Given the description of an element on the screen output the (x, y) to click on. 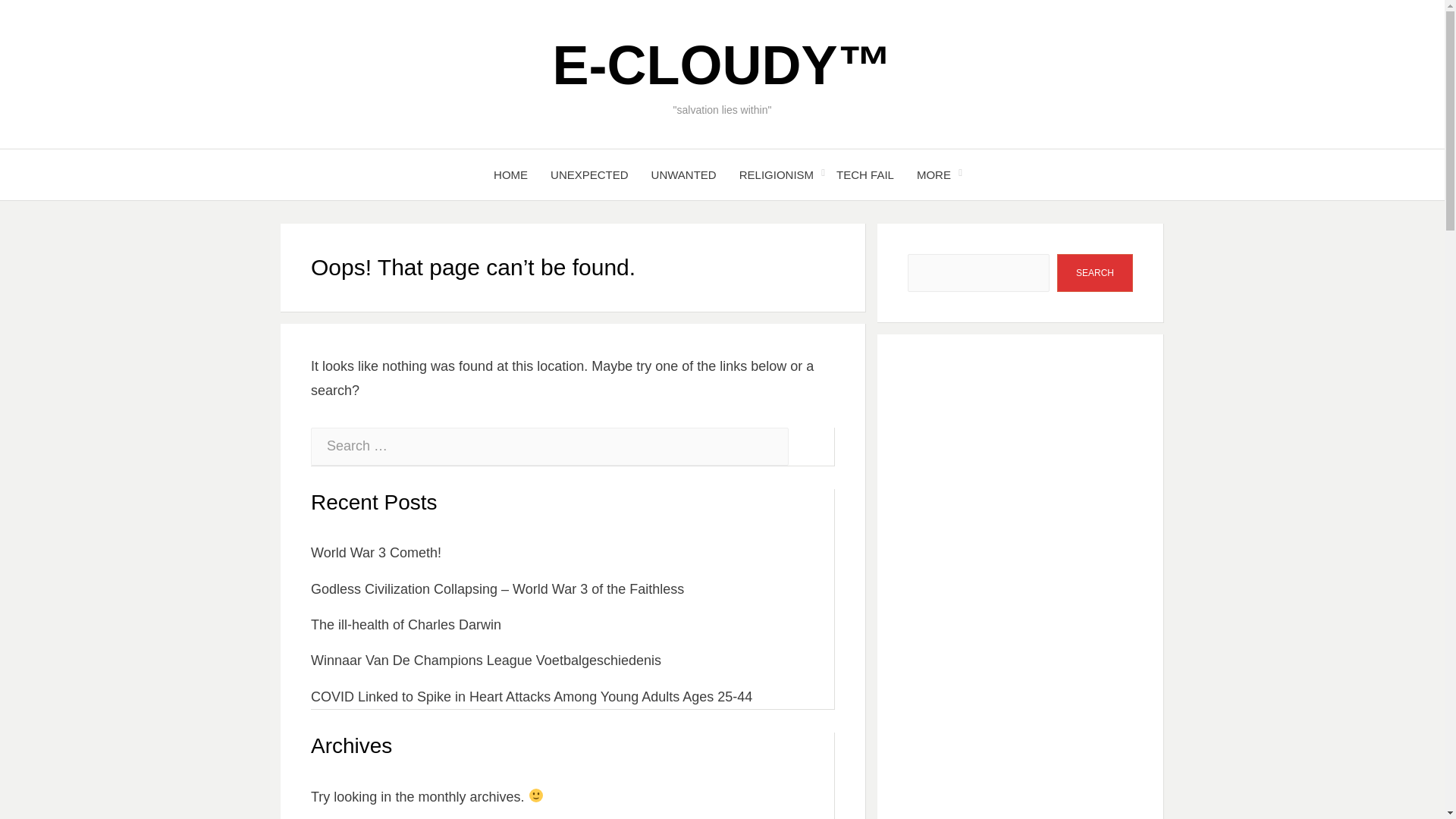
World War 3 Cometh! (376, 552)
The ill-health of Charles Darwin (405, 624)
UNEXPECTED (589, 174)
Winnaar Van De Champions League Voetbalgeschiedenis (486, 660)
MORE (933, 174)
UNWANTED (684, 174)
Search for: (550, 446)
RELIGIONISM (776, 174)
TECH FAIL (865, 174)
HOME (509, 174)
